Given the description of an element on the screen output the (x, y) to click on. 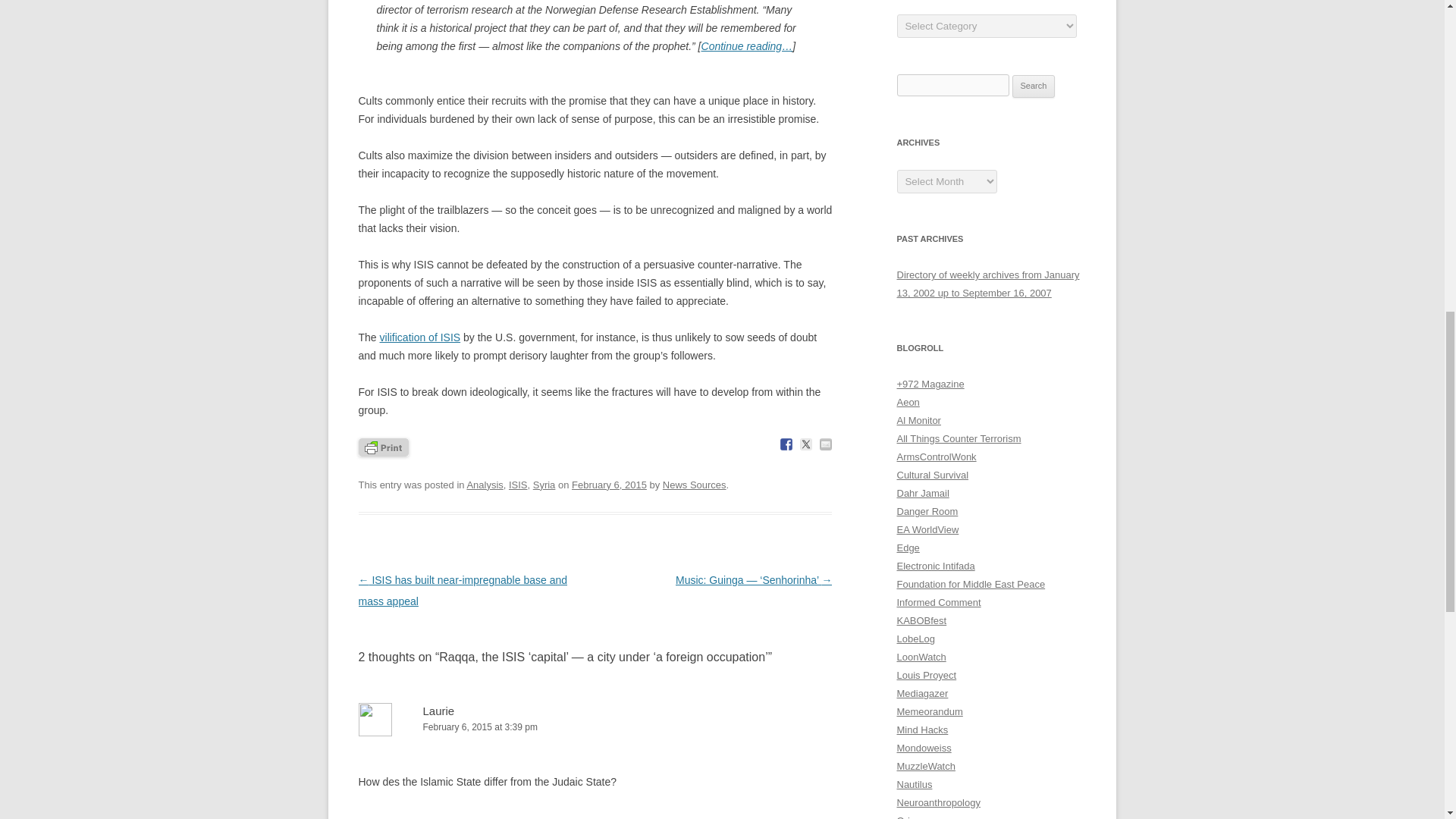
News Sources (694, 484)
Al Monitor (918, 419)
Search (1033, 86)
February 6, 2015 at 3:39 pm (594, 727)
ArmsControlWonk (935, 456)
Syria (544, 484)
Cultural Survival (932, 474)
Share on Twitter (805, 444)
February 6, 2015 (609, 484)
